Given the description of an element on the screen output the (x, y) to click on. 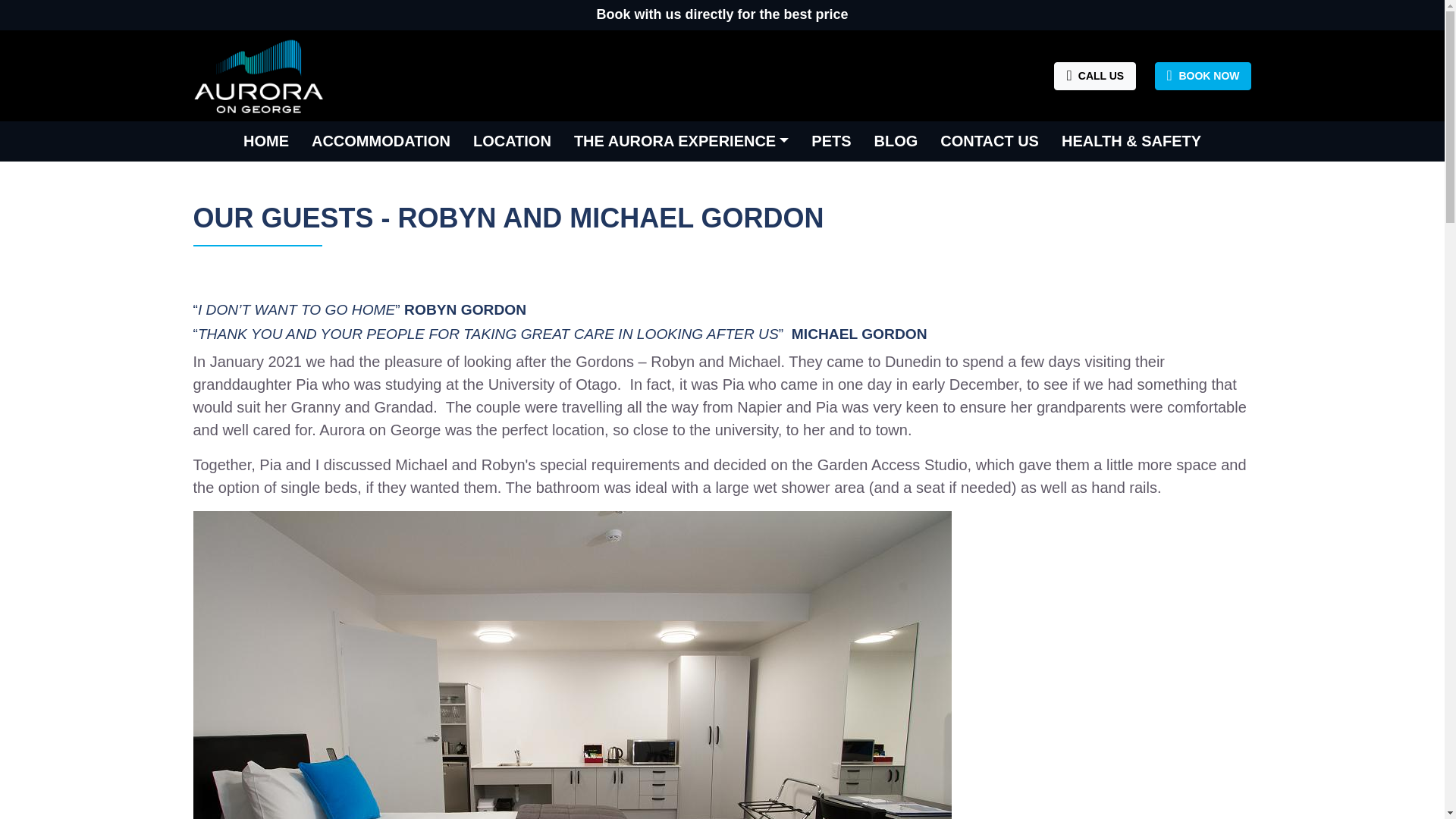
ACCOMMODATION (380, 140)
THE AURORA EXPERIENCE (680, 140)
CONTACT US (988, 140)
LOCATION (511, 140)
BOOK NOW (1203, 76)
PETS (830, 140)
CALL US (1094, 76)
HOME (265, 140)
